Given the description of an element on the screen output the (x, y) to click on. 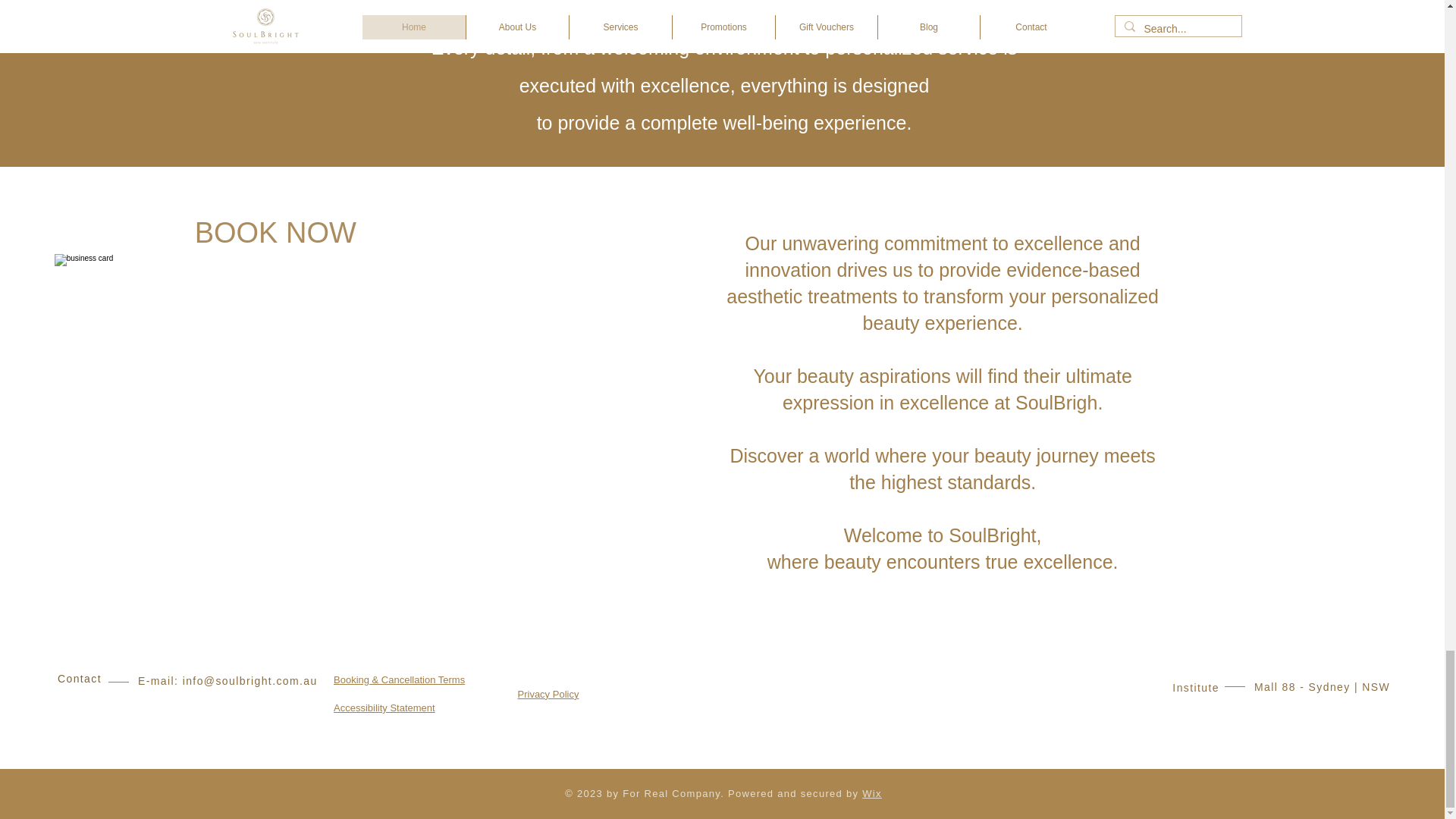
Privacy Policy (547, 694)
Accessibility Statement (384, 707)
Wix (871, 793)
